Given the description of an element on the screen output the (x, y) to click on. 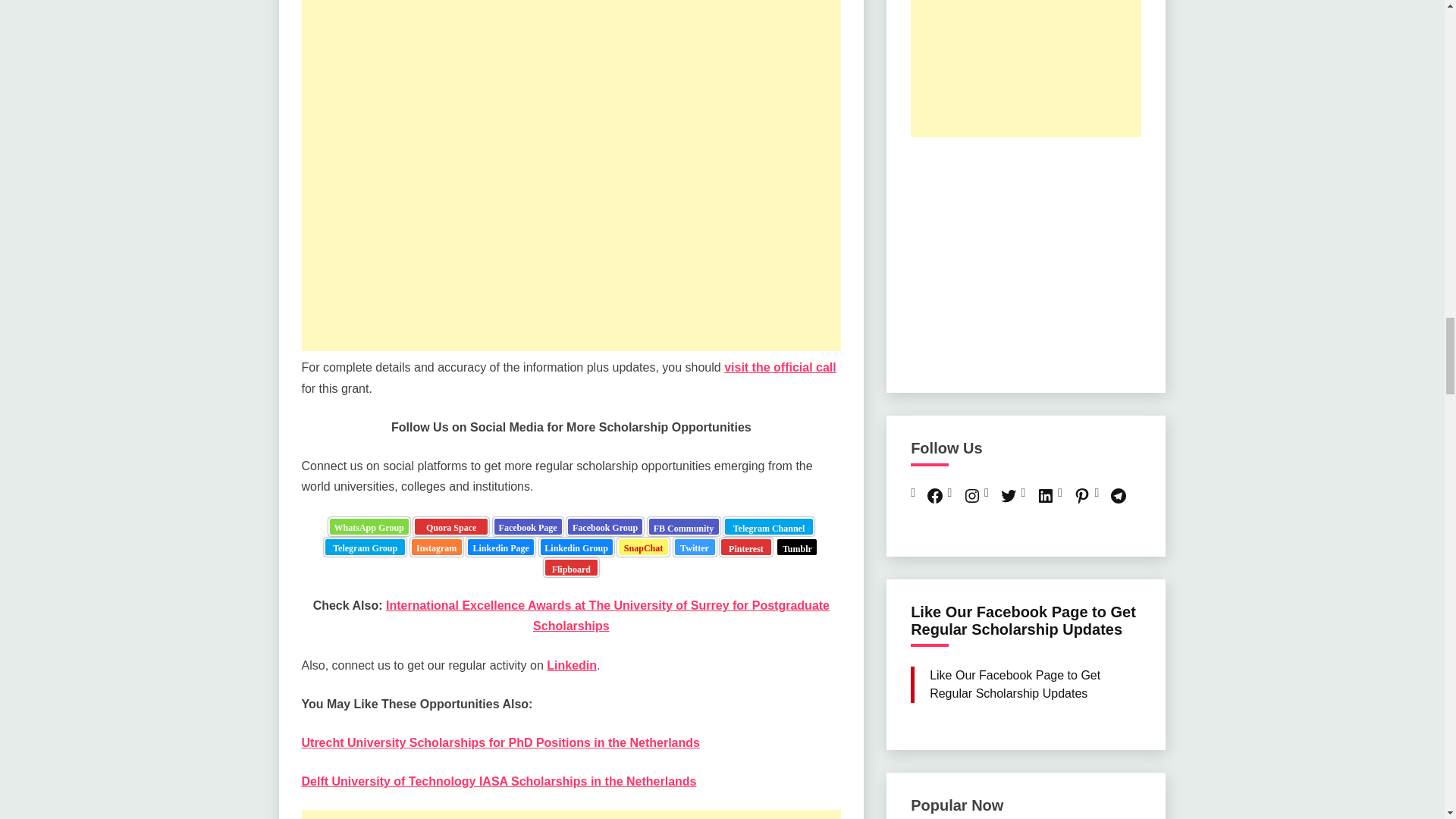
Ocean of Scholarships, Visa Guidance and Much More (768, 526)
Fully Funded Scholarship (451, 526)
FB Community (683, 526)
Quora Space (451, 526)
Like Our Facebook Page for Scholarship Updates (528, 526)
Get Regular Scholarship Updates (604, 526)
Join Our WhatsApp Group (369, 526)
WhatsApp Group (369, 526)
visit the official call (779, 367)
